Given the description of an element on the screen output the (x, y) to click on. 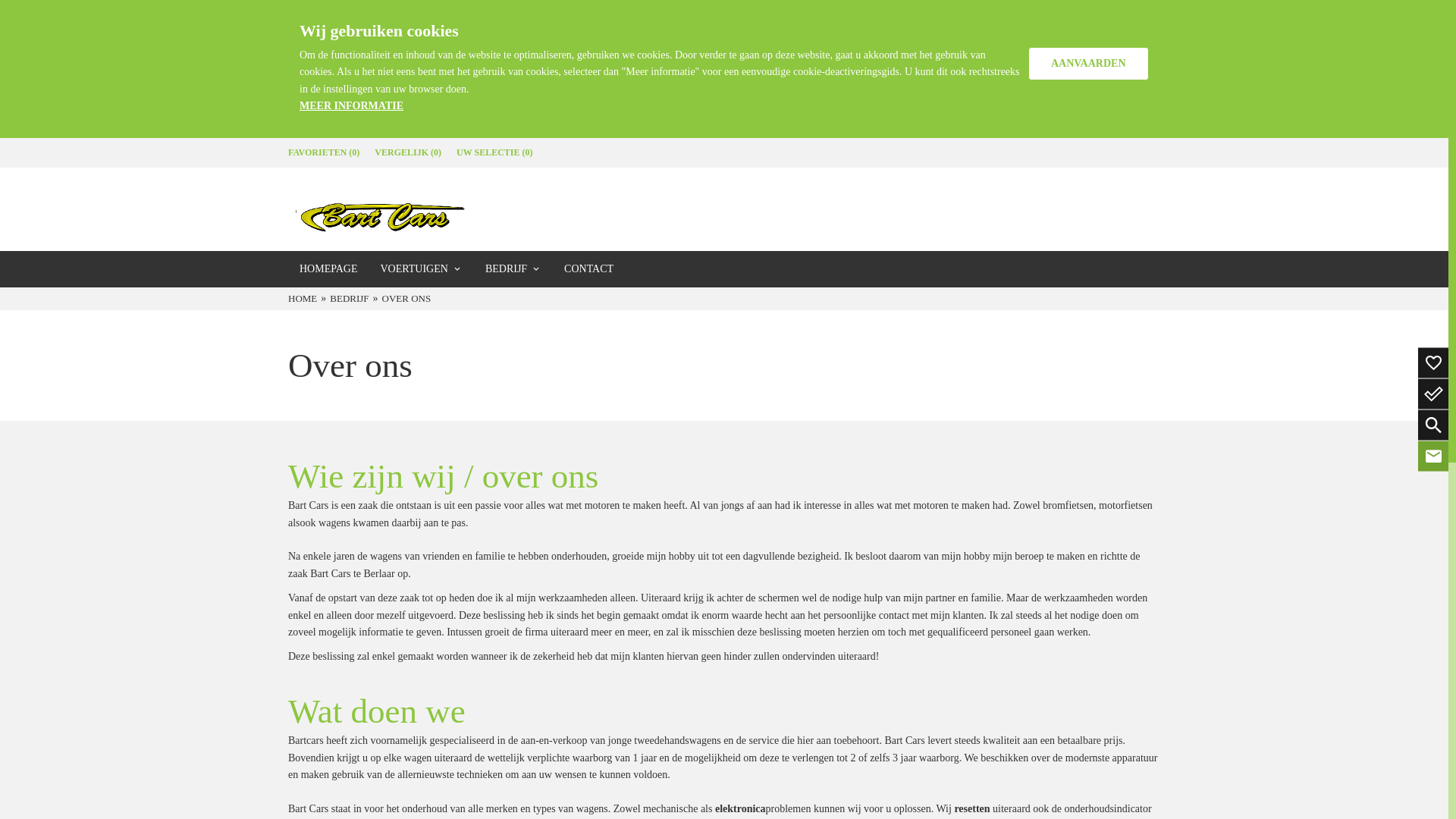
OVER ONS Element type: text (408, 298)
HOME Element type: text (304, 298)
HOMEPAGE Element type: text (328, 269)
AANVAARDEN Element type: text (1088, 63)
VERGELIJK (0) Element type: text (407, 152)
CONTACT Element type: text (588, 269)
BEDRIJF Element type: text (350, 298)
Bart Cars Element type: hover (380, 208)
UW SELECTIE (0) Element type: text (493, 152)
MEER INFORMATIE Element type: text (351, 105)
BEDRIJF Element type: text (512, 269)
VOERTUIGEN Element type: text (420, 269)
FAVORIETEN (0) Element type: text (323, 152)
